Given the description of an element on the screen output the (x, y) to click on. 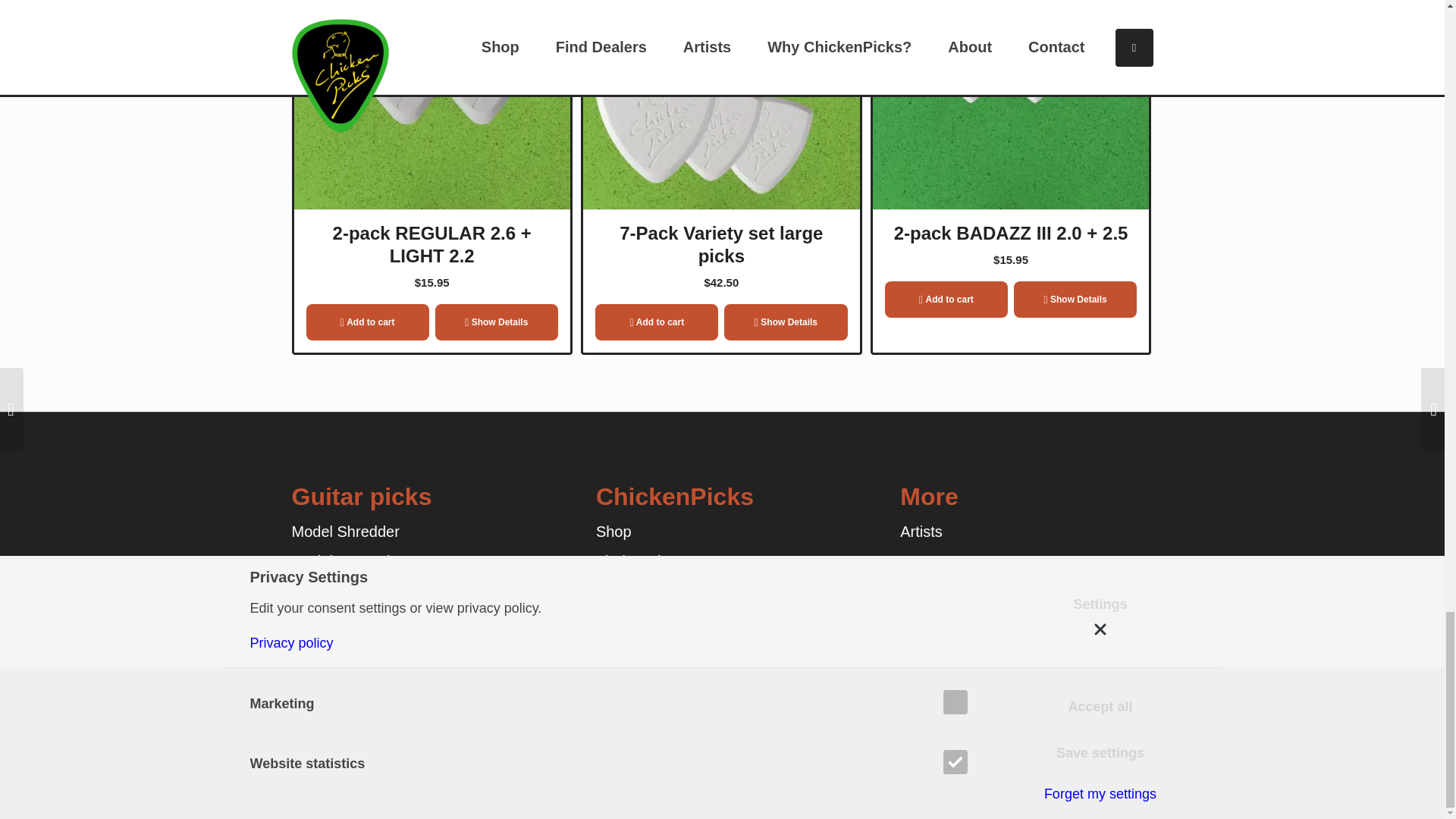
Facebook (1091, 775)
